Given the description of an element on the screen output the (x, y) to click on. 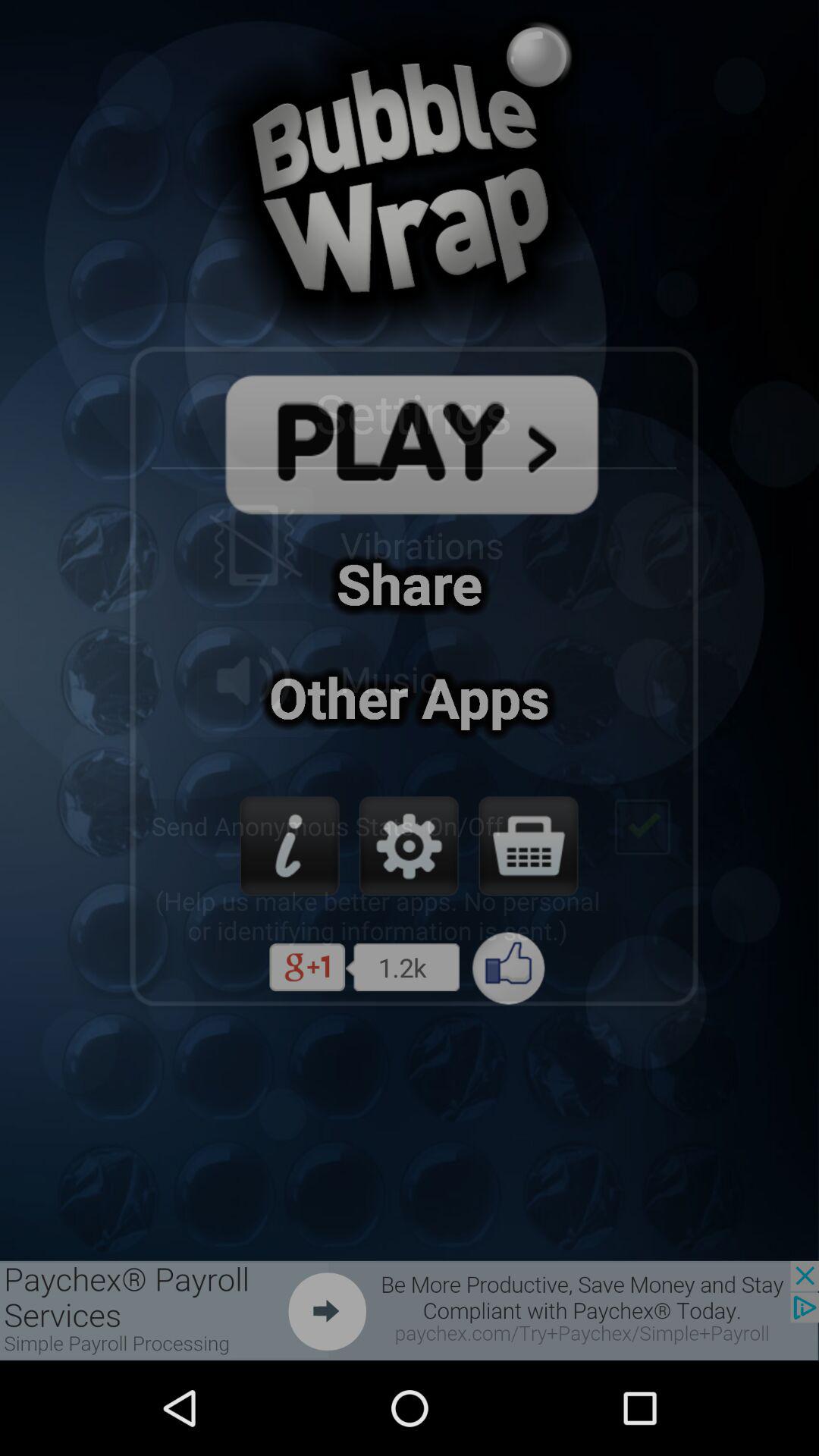
navigate to advertisement (409, 1310)
